Given the description of an element on the screen output the (x, y) to click on. 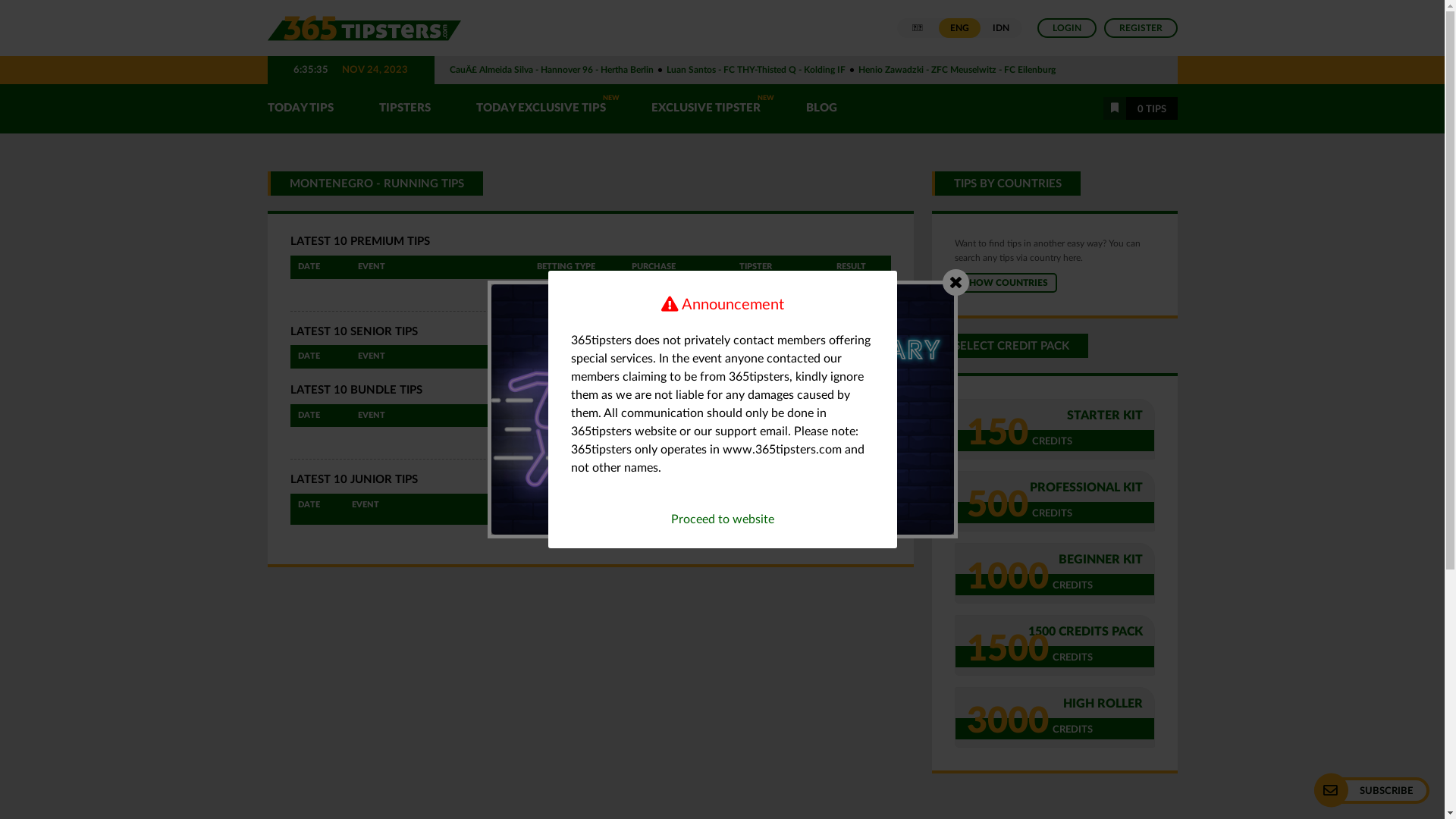
EXCLUSIVE TIPSTER
NEW Element type: text (705, 108)
TODAY EXCLUSIVE TIPS
NEW Element type: text (541, 108)
IDN Element type: text (1000, 27)
Proceed to website Element type: text (721, 519)
TODAY TIPS Element type: text (307, 108)
Dominik Wysocki - FC THY-Thisted Q - Kolding IF Element type: text (812, 69)
View All Senior Tips Element type: text (849, 380)
Luis Azevedo Barros - Hamburger SV - Eintracht Braunschweig Element type: text (573, 69)
David D. Walter - Werder Bremen II - BTS Neustadt Element type: text (1029, 69)
LOGIN Element type: text (1066, 27)
View All Premium Tips Element type: text (845, 290)
REGISTER Element type: text (1140, 27)
ENG Element type: text (959, 27)
View All Junior Tips Element type: text (851, 536)
BLOG Element type: text (820, 108)
TIPSTERS Element type: text (404, 108)
View All Bundle Tips Element type: text (848, 438)
0 TIPS Element type: text (1139, 108)
